Given the description of an element on the screen output the (x, y) to click on. 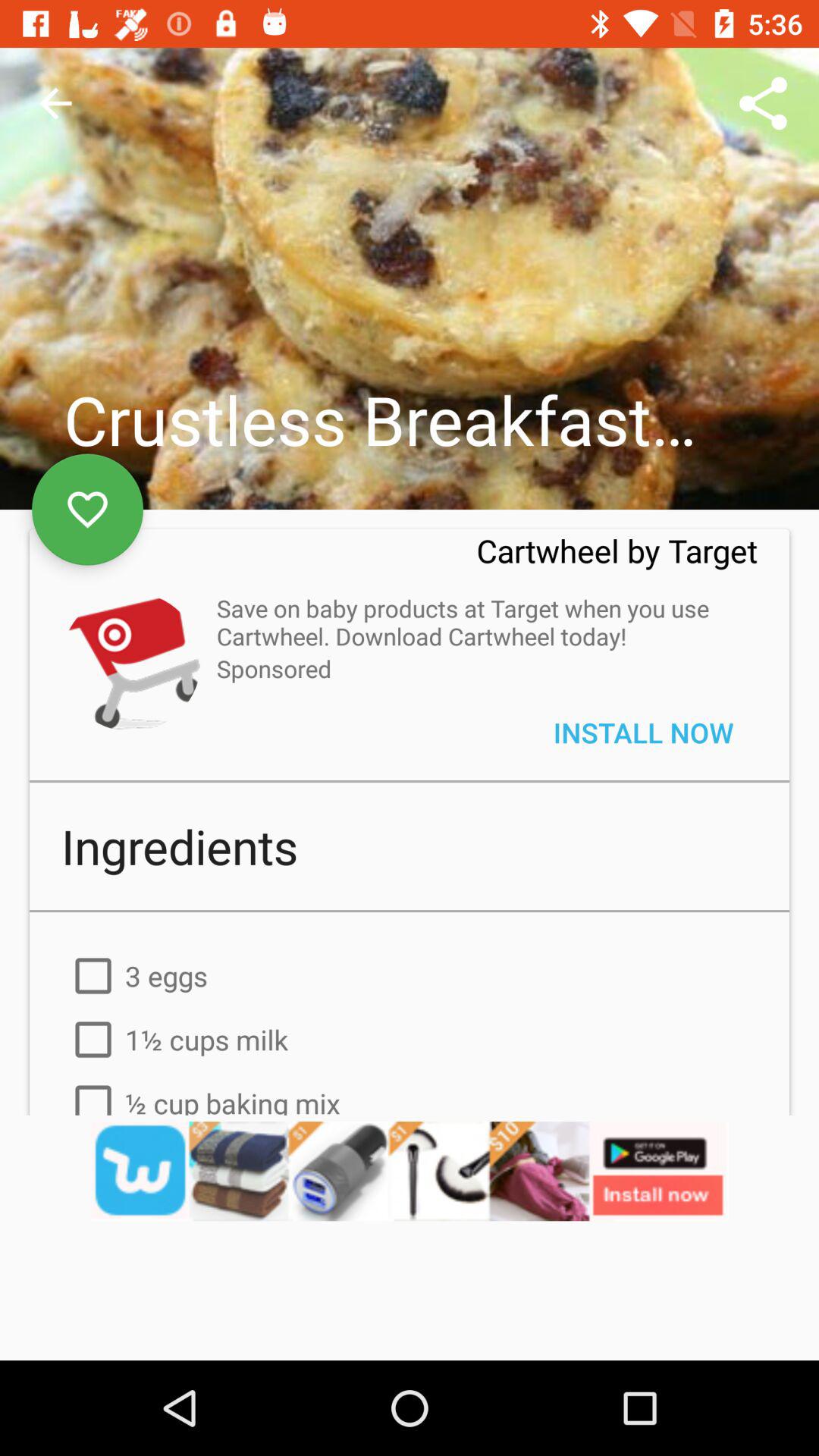
open cart (130, 661)
